Given the description of an element on the screen output the (x, y) to click on. 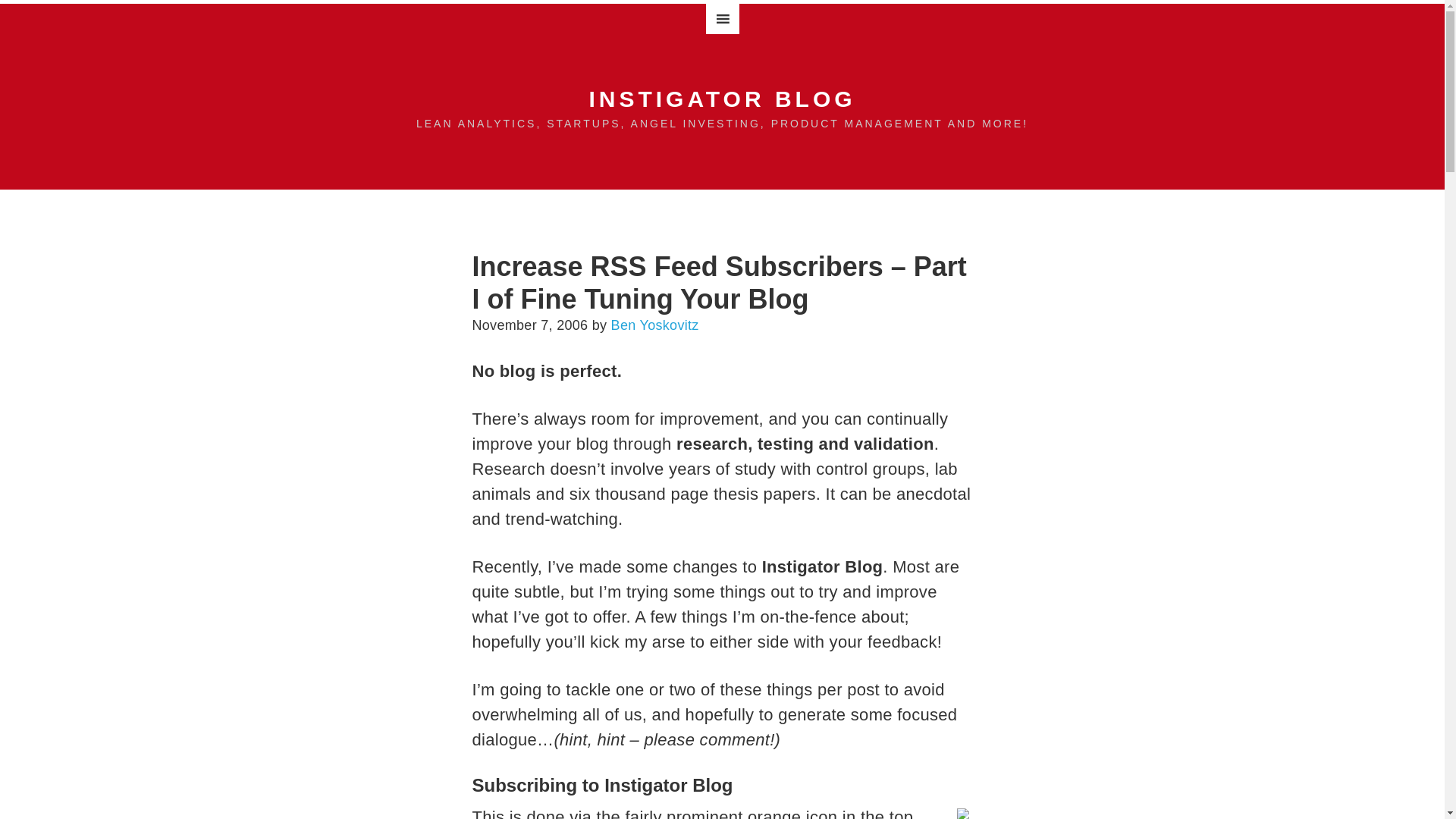
Ben Yoskovitz (654, 324)
INSTIGATOR BLOG (722, 98)
